Given the description of an element on the screen output the (x, y) to click on. 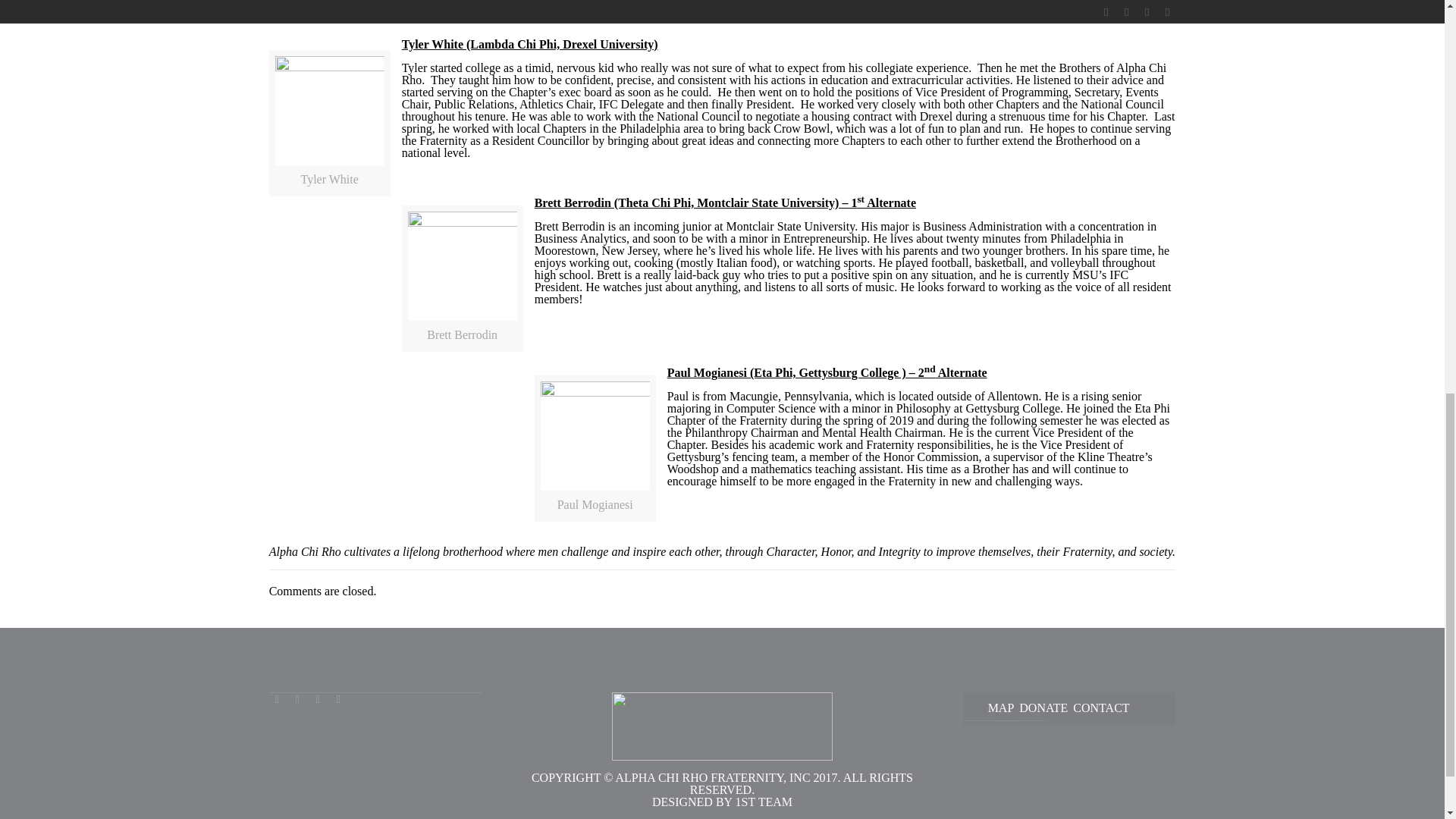
Twitter (297, 698)
Instagram (338, 698)
Facebook (277, 698)
LinkedIn (318, 698)
